Given the description of an element on the screen output the (x, y) to click on. 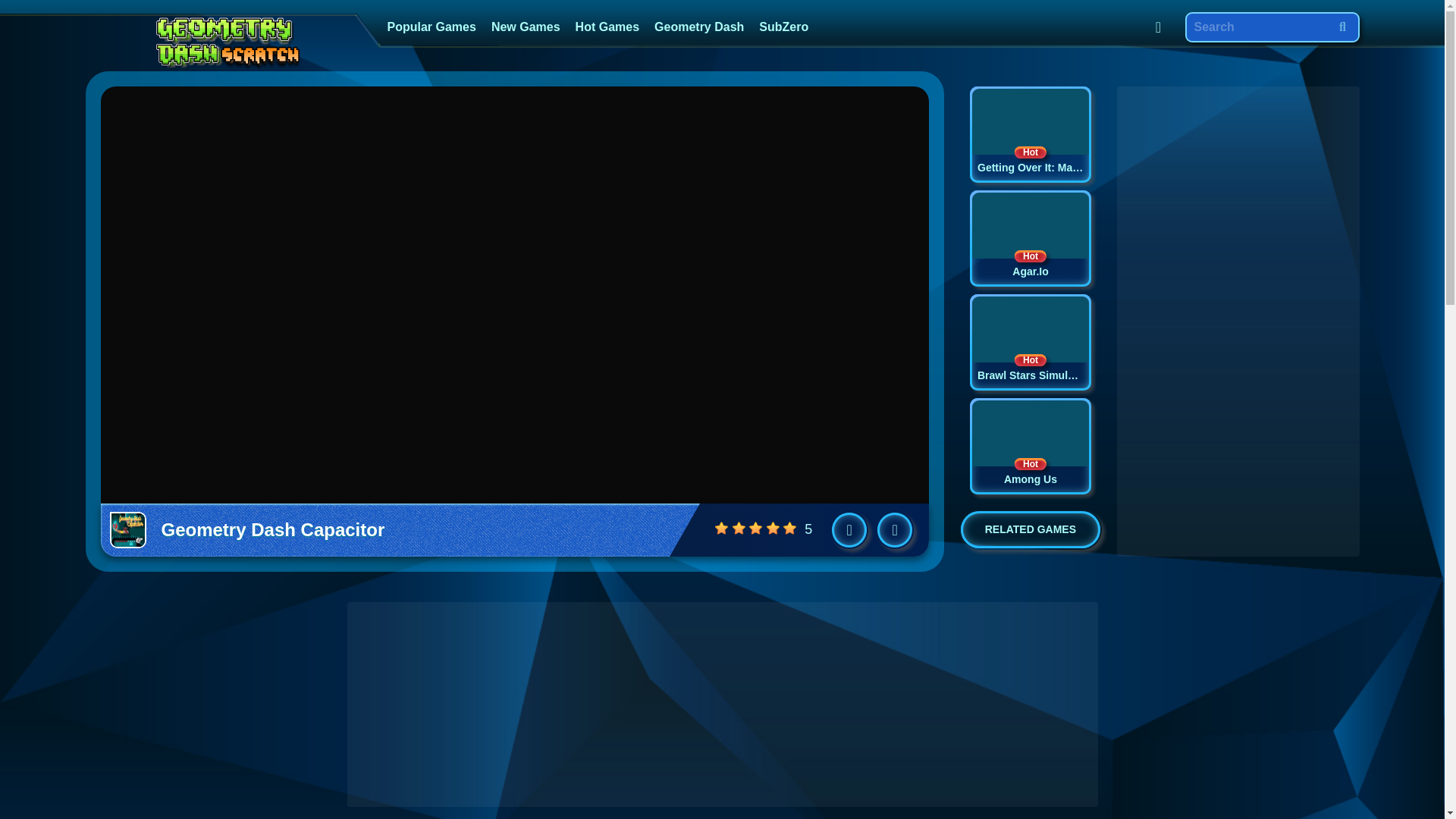
Getting Over It: Mario (1029, 238)
poor (1029, 134)
good (1029, 342)
New Games (1029, 446)
Hot Games (738, 528)
Brawl Stars Simulator (773, 528)
Popular Games (525, 27)
Popular Games (606, 27)
Geometry Dash Scratch (1029, 342)
RELATED GAMES (430, 27)
Geometry Dash (430, 27)
gorgeous (227, 44)
